Given the description of an element on the screen output the (x, y) to click on. 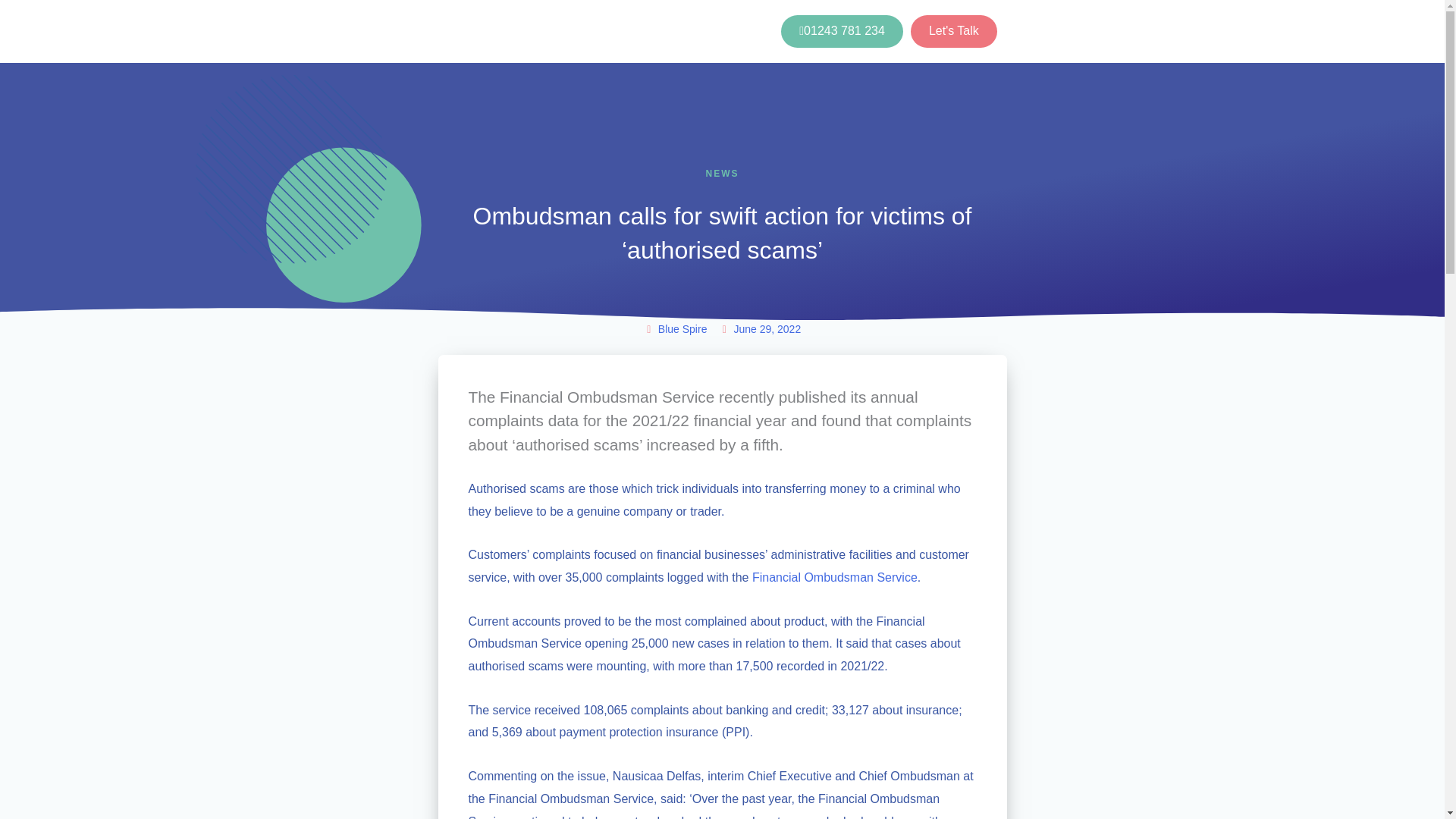
Financial Ombudsman Service (834, 576)
Who we are (468, 32)
June 29, 2022 (759, 329)
Changing accountants (655, 32)
What we do (548, 32)
NEWS (721, 173)
Blue Spire (675, 329)
01243 781 234 (841, 31)
Let's Talk (954, 31)
